Given the description of an element on the screen output the (x, y) to click on. 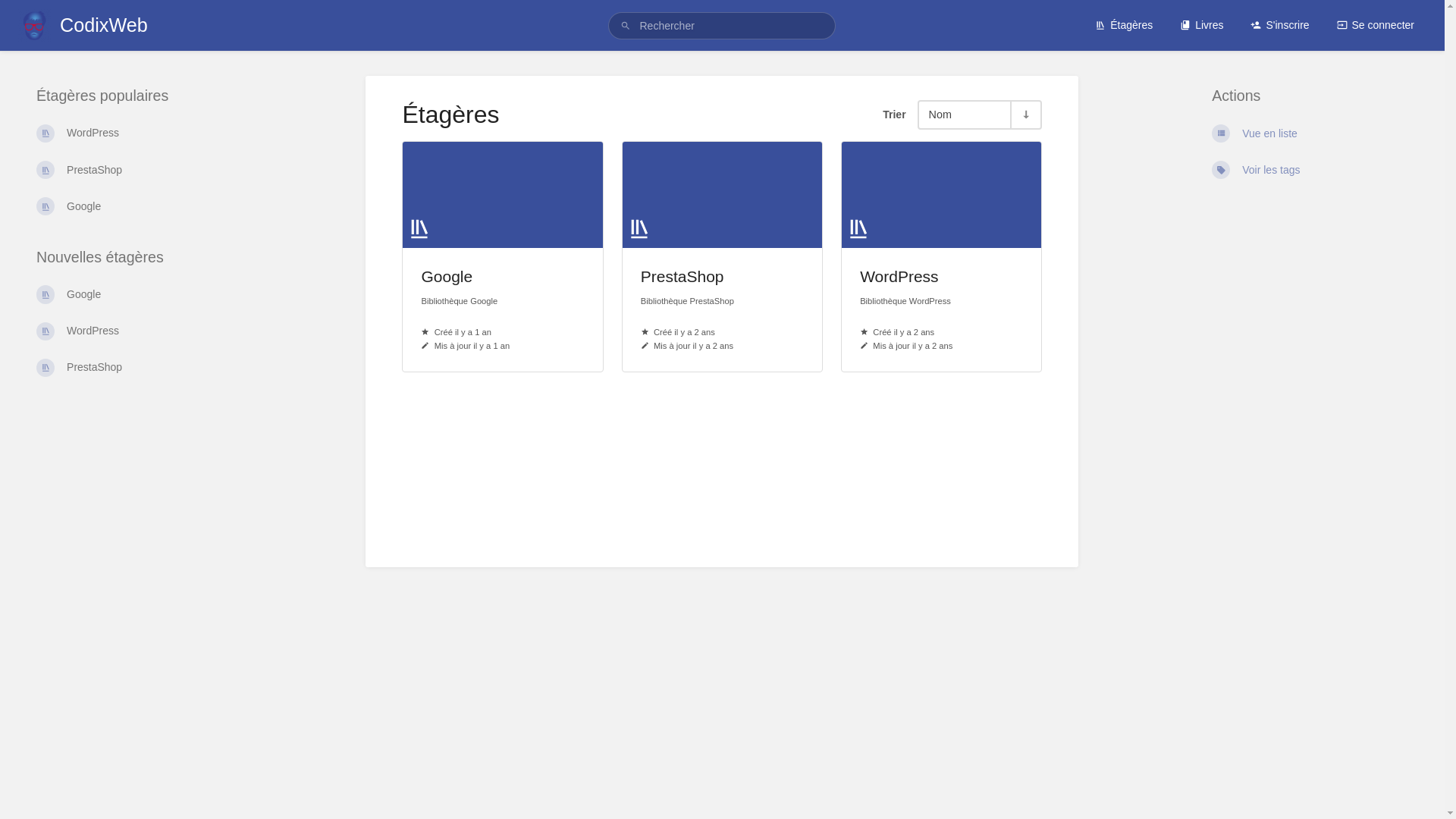
Google Element type: text (134, 294)
Se connecter Element type: text (1375, 24)
WordPress Element type: text (134, 133)
S'inscrire Element type: text (1279, 24)
Vue en liste Element type: text (1309, 133)
Voir les tags Element type: text (1309, 169)
WordPress Element type: text (134, 331)
Google Element type: text (134, 206)
CodixWeb Element type: text (82, 25)
Livres Element type: text (1201, 24)
PrestaShop Element type: text (134, 367)
PrestaShop Element type: text (134, 169)
